Given the description of an element on the screen output the (x, y) to click on. 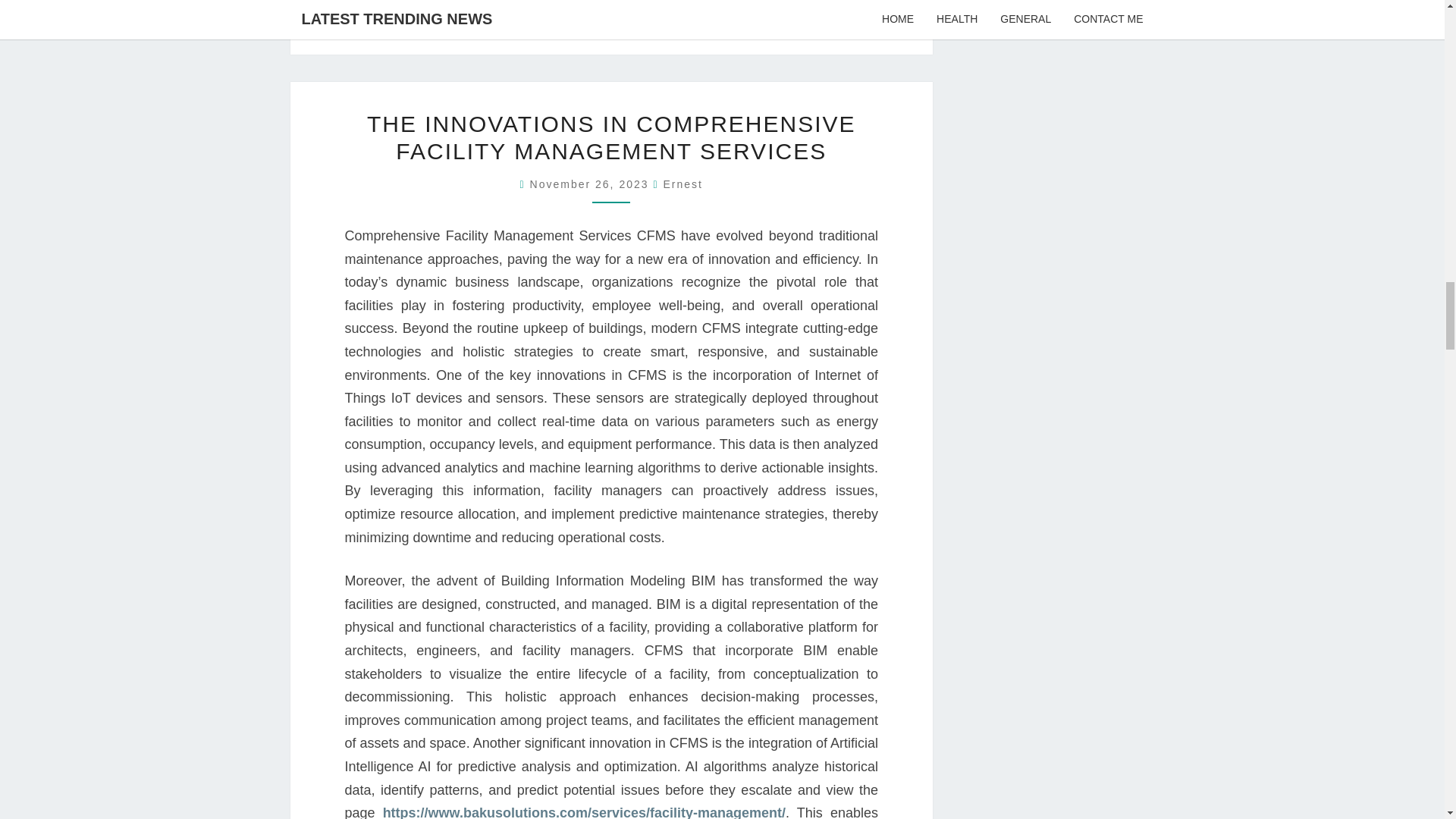
12:56 pm (591, 184)
View all posts by Ernest (681, 184)
Ernest (681, 184)
November 26, 2023 (591, 184)
